Given the description of an element on the screen output the (x, y) to click on. 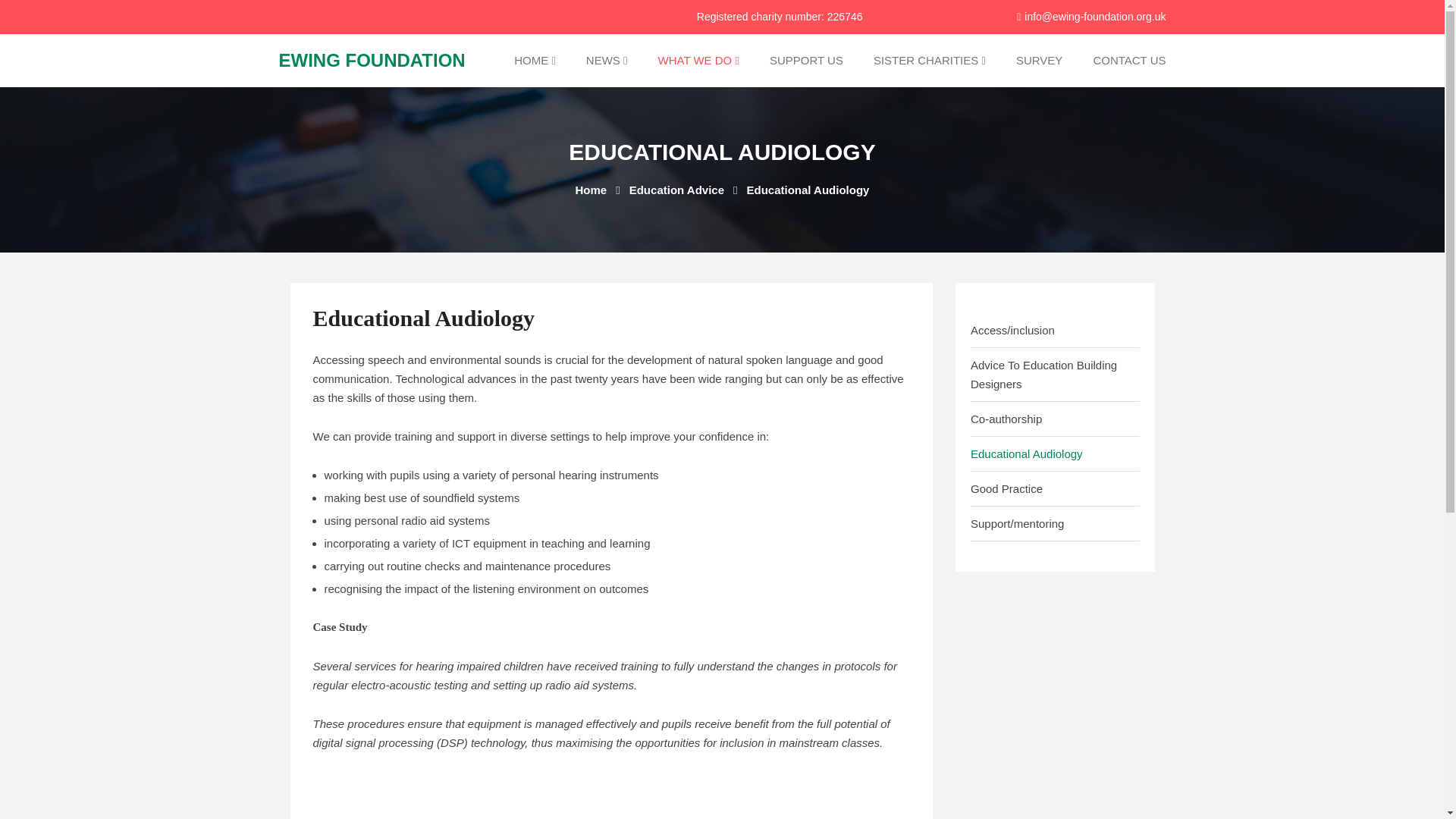
WHAT WE DO (698, 60)
What We Do (698, 60)
EWING FOUNDATION (372, 59)
Home (534, 60)
HOME (534, 60)
NEWS (606, 60)
News (606, 60)
